Given the description of an element on the screen output the (x, y) to click on. 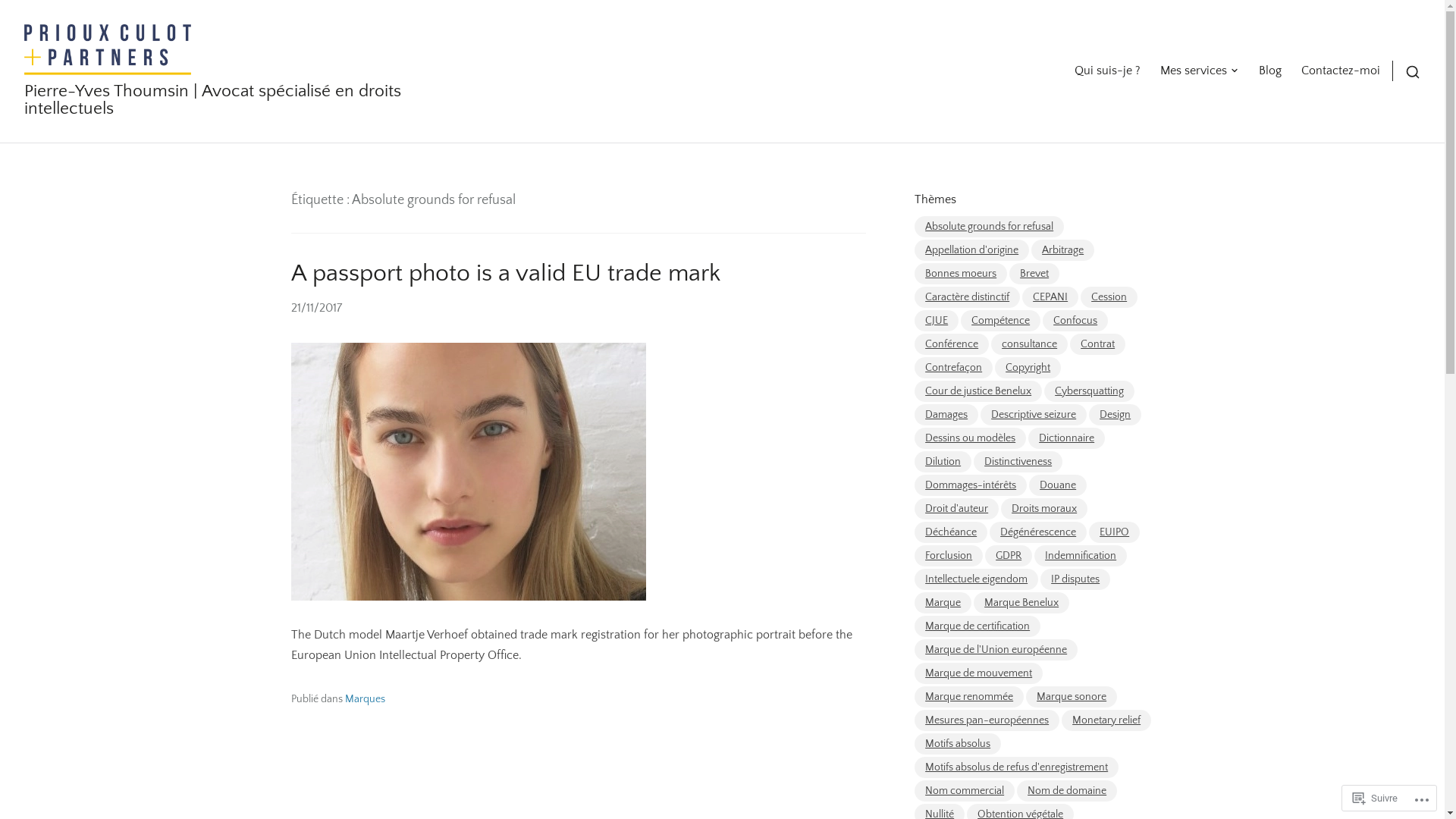
EUIPO Element type: text (1113, 531)
Dilution Element type: text (942, 461)
Marque de certification Element type: text (977, 626)
Cybersquatting Element type: text (1089, 390)
Monetary relief Element type: text (1106, 720)
GDPR Element type: text (1008, 555)
A passport photo is a valid EU trade mark Element type: text (505, 272)
Marque Benelux Element type: text (1021, 602)
CEPANI Element type: text (1050, 296)
Absolute grounds for refusal Element type: text (988, 226)
Confocus Element type: text (1074, 320)
Appellation d'origine Element type: text (971, 249)
Nom de domaine Element type: text (1066, 790)
Qui suis-je ? Element type: text (1107, 70)
Descriptive seizure Element type: text (1033, 414)
Blog Element type: text (1269, 70)
Marque de mouvement Element type: text (978, 673)
Copyright Element type: text (1027, 367)
Contrat Element type: text (1097, 343)
Cour de justice Benelux Element type: text (977, 390)
Damages Element type: text (946, 414)
Brevet Element type: text (1034, 273)
Arbitrage Element type: text (1062, 249)
CJUE Element type: text (936, 320)
Nom commercial Element type: text (964, 790)
IP disputes Element type: text (1075, 578)
Motifs absolus Element type: text (957, 743)
Suivre Element type: text (1374, 797)
Droit d'auteur Element type: text (956, 508)
Marque Element type: text (942, 602)
Intellectuele eigendom Element type: text (976, 578)
Motifs absolus de refus d'enregistrement Element type: text (1016, 767)
Mes services Element type: text (1199, 70)
Distinctiveness Element type: text (1017, 461)
Forclusion Element type: text (948, 555)
Marque sonore Element type: text (1071, 696)
Cession Element type: text (1108, 296)
consultance Element type: text (1029, 343)
Design Element type: text (1114, 414)
Dictionnaire Element type: text (1066, 437)
Douane Element type: text (1057, 484)
Bonnes moeurs Element type: text (960, 273)
Droits moraux Element type: text (1044, 508)
Contactez-moi Element type: text (1340, 70)
Marques Element type: text (364, 699)
Indemnification Element type: text (1080, 555)
